Given the description of an element on the screen output the (x, y) to click on. 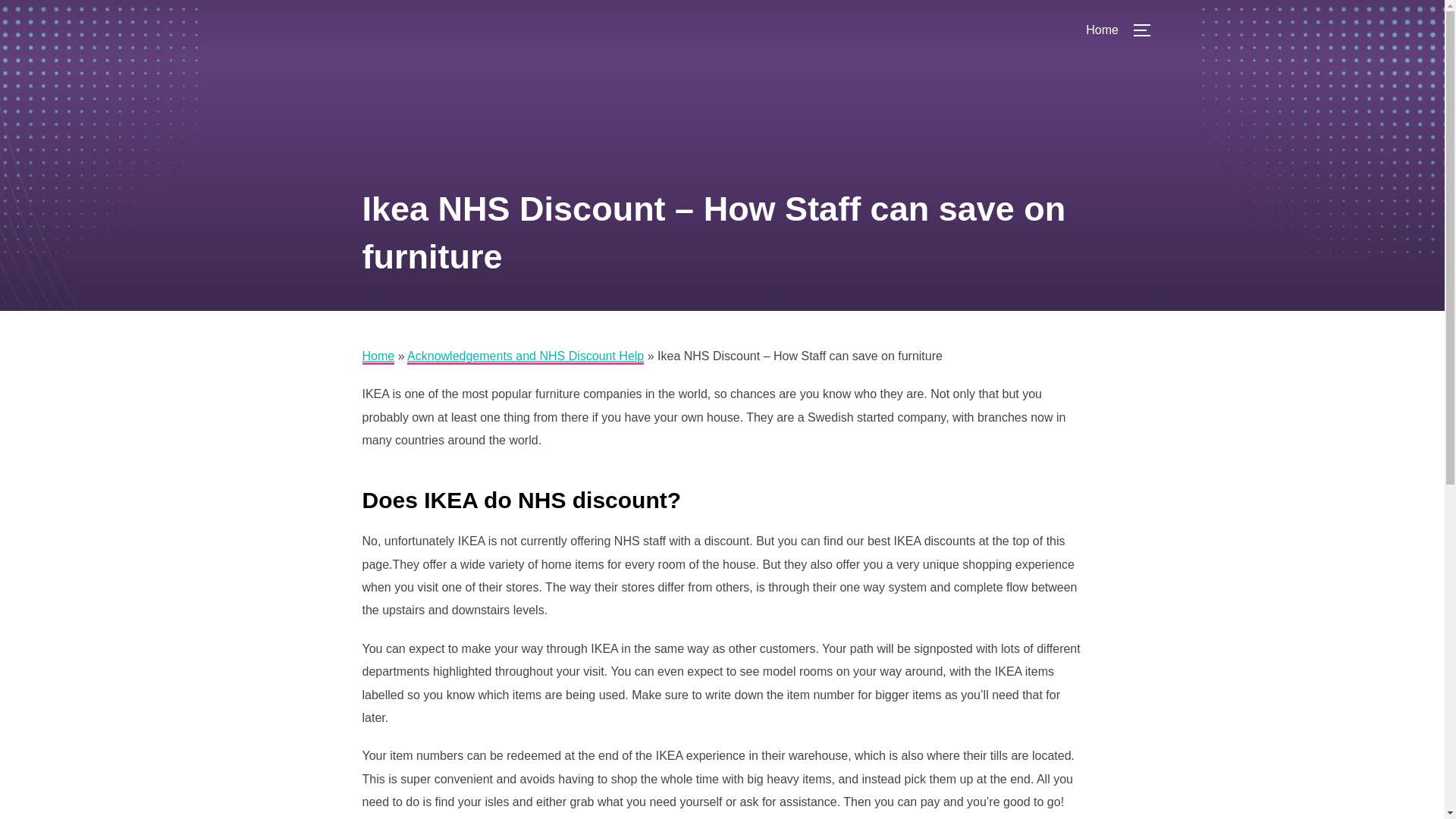
Home (1102, 30)
Home (378, 356)
Acknowledgements and NHS Discount Help (525, 356)
